Given the description of an element on the screen output the (x, y) to click on. 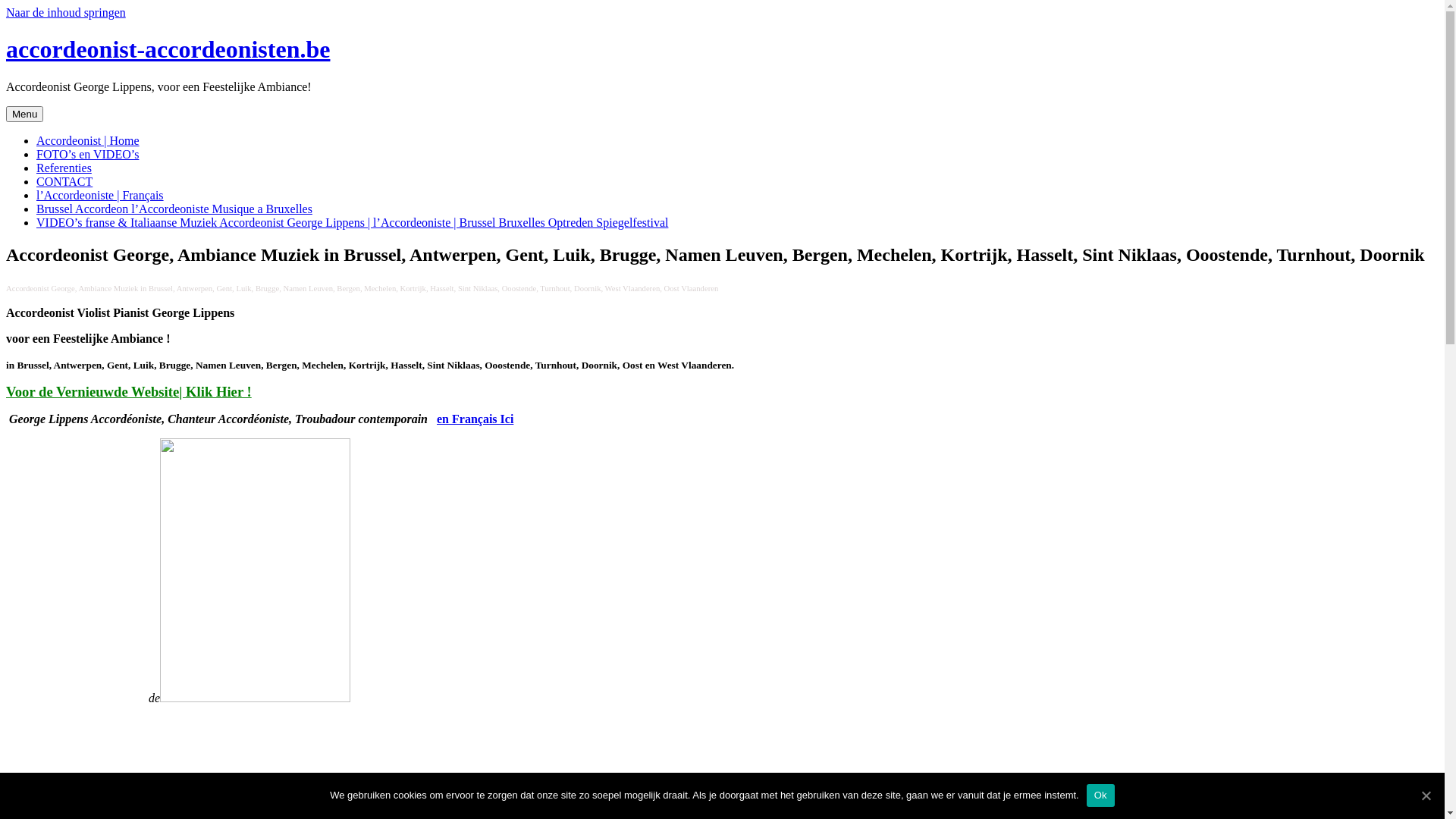
Voor de Vernieuwde Website Element type: text (92, 391)
Naar de inhoud springen Element type: text (65, 12)
Ok Element type: text (1100, 795)
Menu Element type: text (24, 114)
CONTACT Element type: text (64, 181)
Accordeonist | Home Element type: text (87, 140)
accordeonist-accordeonisten.be Element type: text (167, 48)
| Klik Hier ! Element type: text (214, 391)
Referenties Element type: text (63, 167)
